Given the description of an element on the screen output the (x, y) to click on. 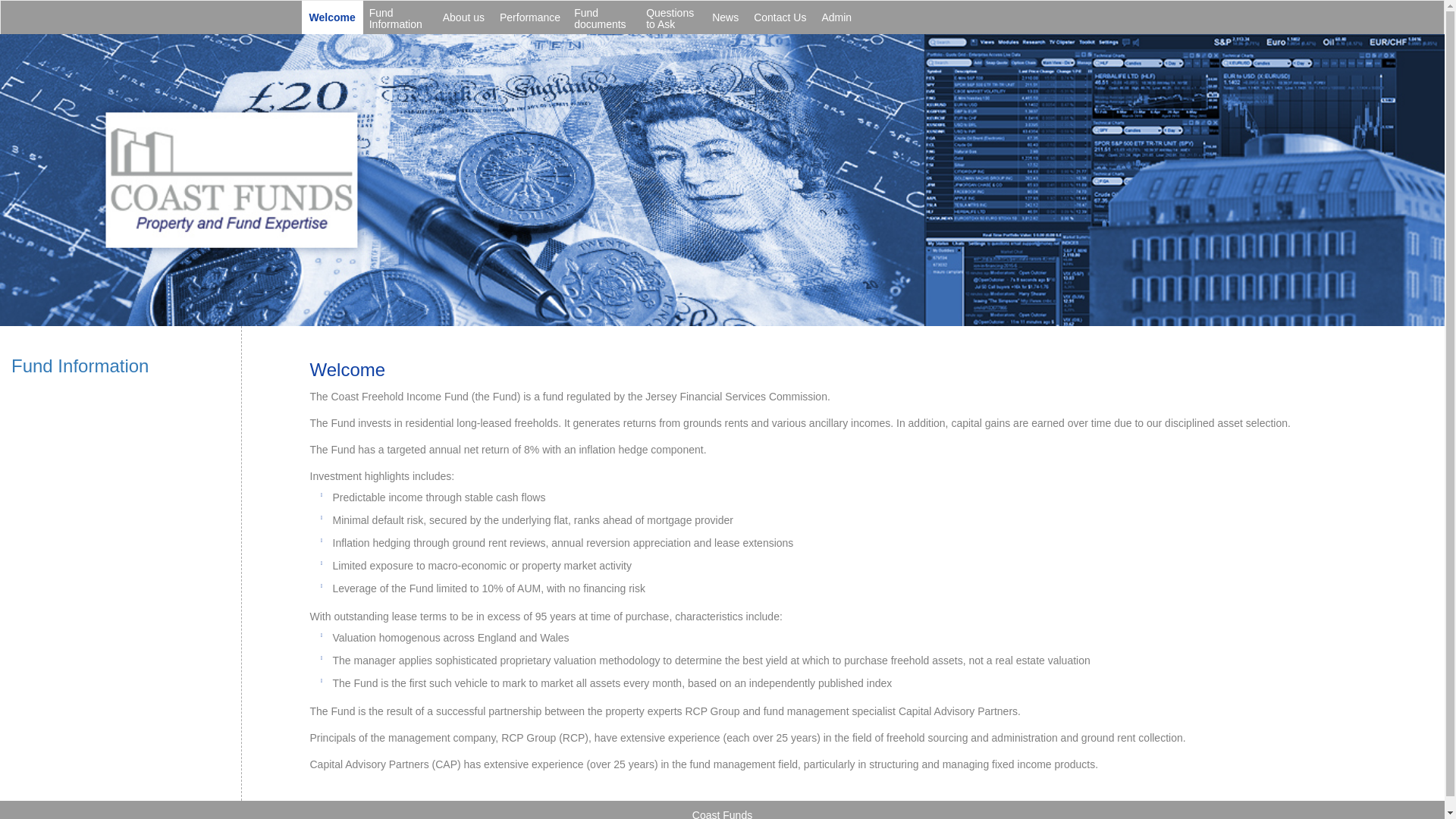
Questions to Ask (672, 17)
Fund Information (79, 365)
About us (463, 17)
Contact Us (779, 17)
Admin (836, 17)
Fund Information (398, 17)
Performance (529, 17)
Fund documents (603, 17)
News (724, 17)
Welcome (331, 17)
